Given the description of an element on the screen output the (x, y) to click on. 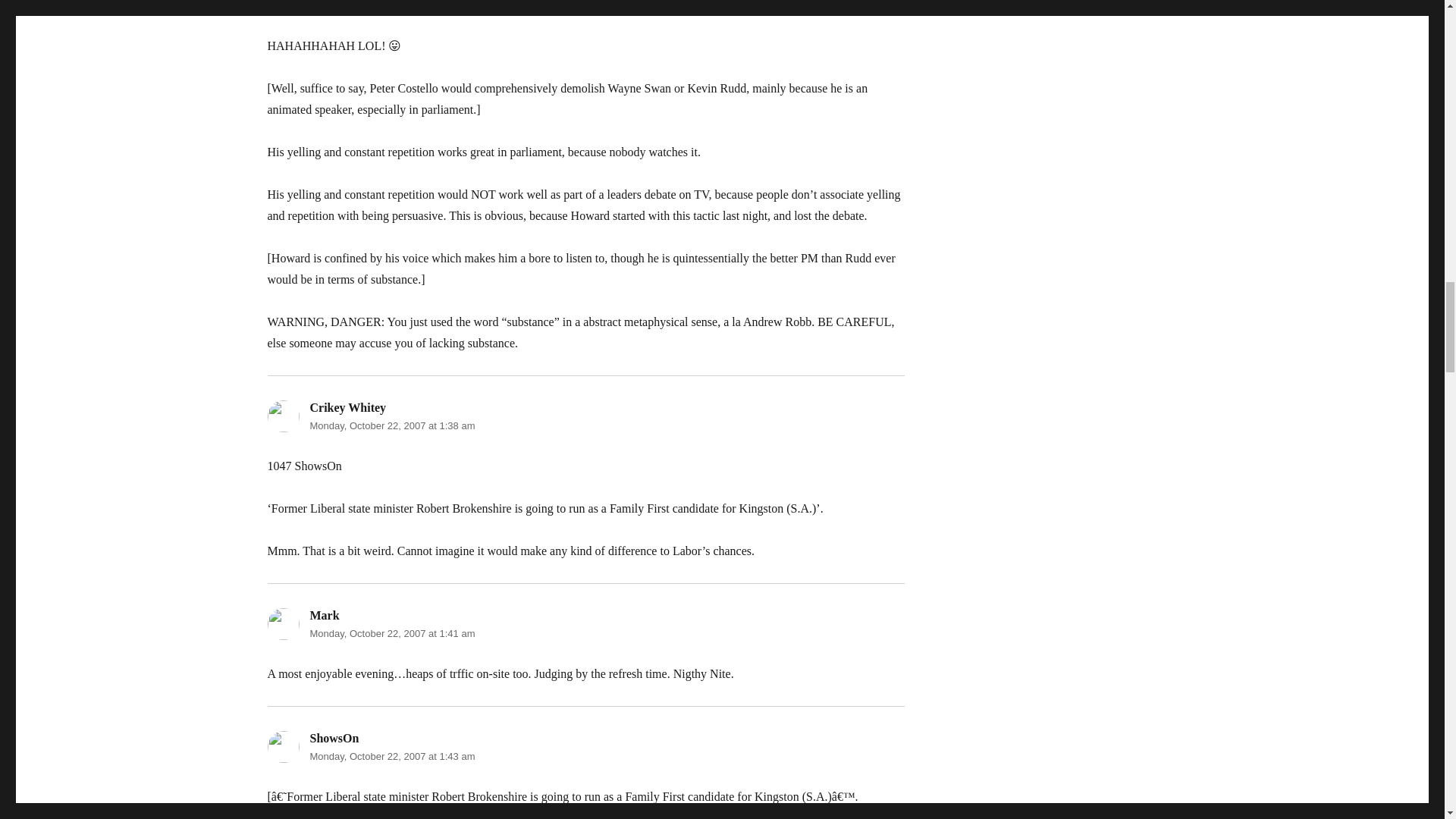
Monday, October 22, 2007 at 1:43 am (391, 756)
Monday, October 22, 2007 at 1:38 am (391, 425)
Monday, October 22, 2007 at 1:41 am (391, 633)
